Given the description of an element on the screen output the (x, y) to click on. 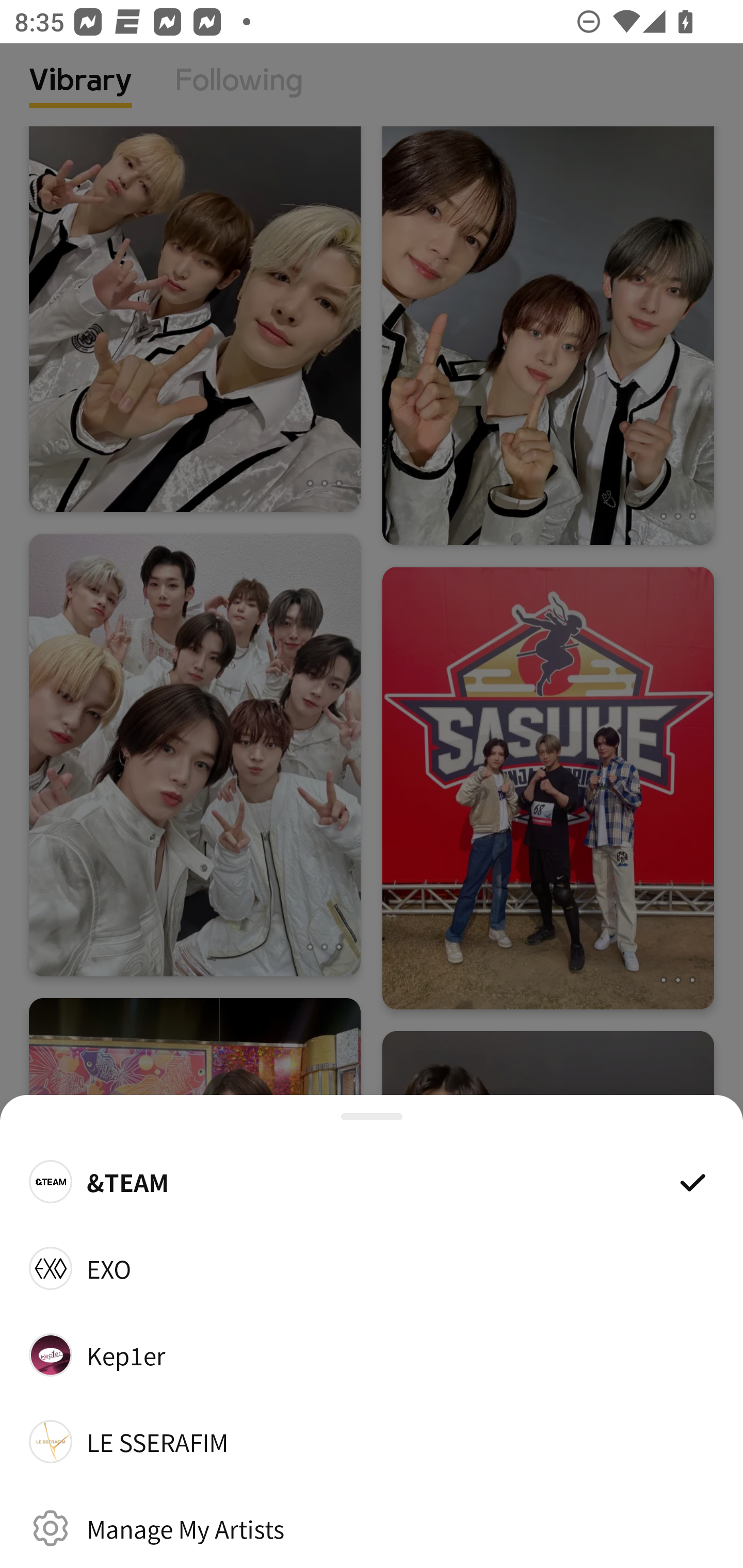
&TEAM (371, 1181)
EXO (371, 1268)
Kep1er (371, 1354)
LE SSERAFIM (371, 1441)
Manage My Artists (371, 1527)
